Given the description of an element on the screen output the (x, y) to click on. 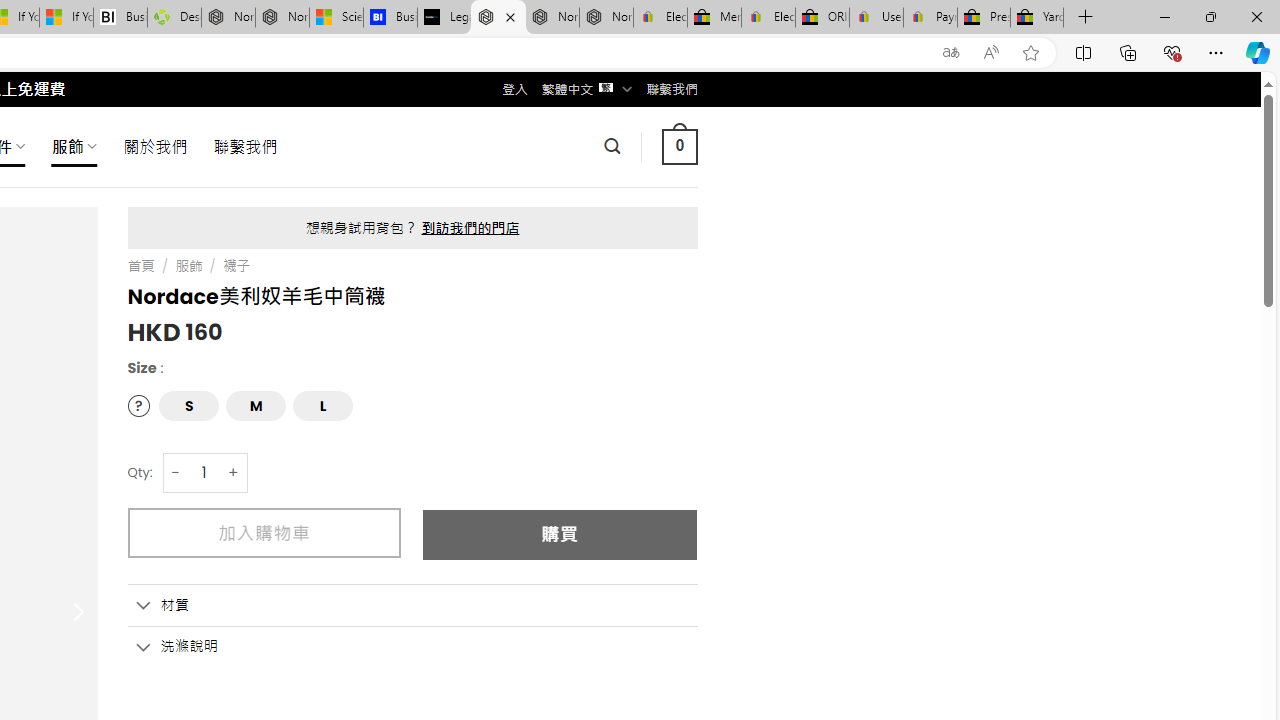
Descarga Driver Updater (174, 17)
+ (234, 472)
Press Room - eBay Inc. (983, 17)
